Given the description of an element on the screen output the (x, y) to click on. 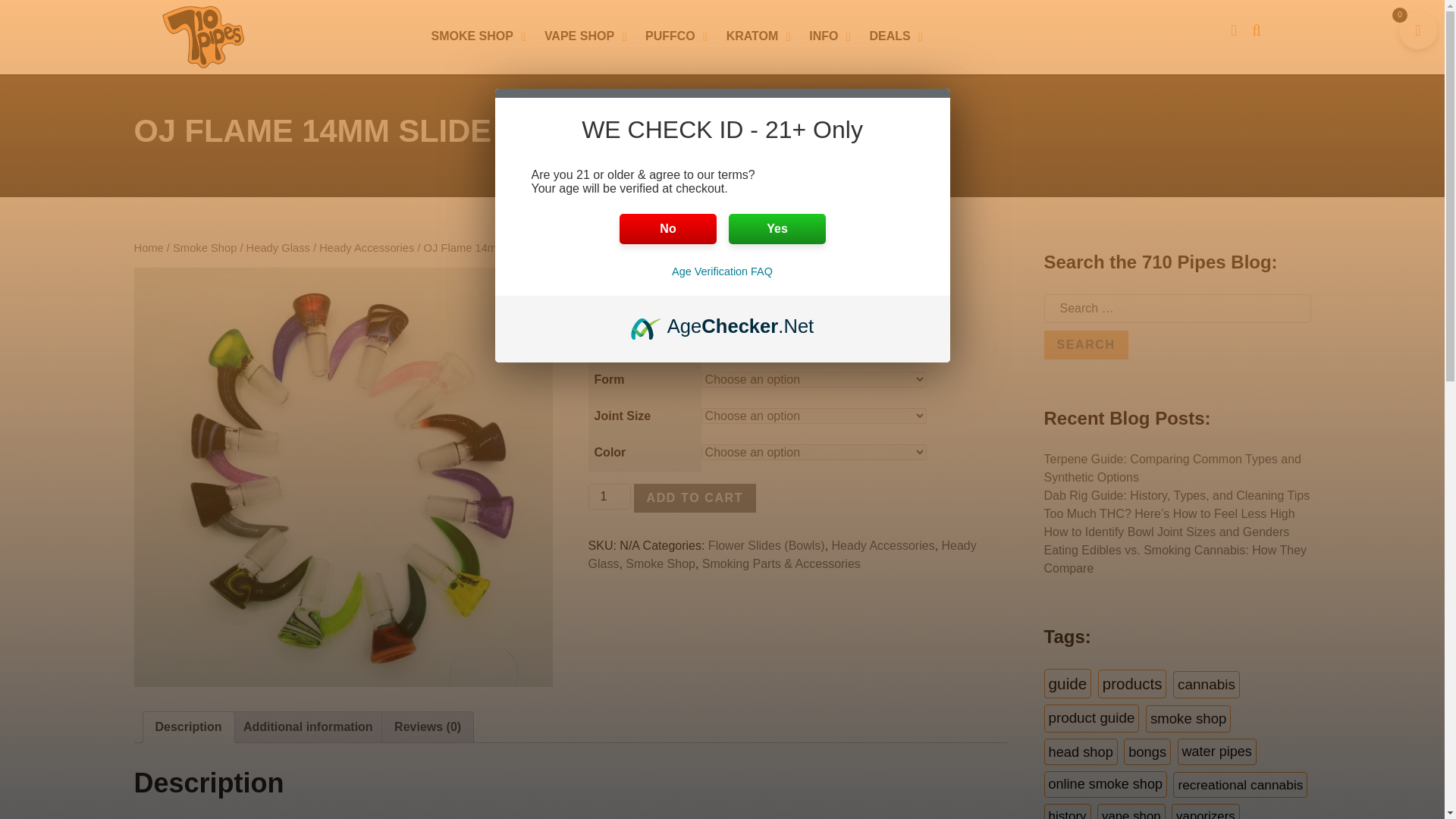
Search (1084, 344)
SMOKE SHOP (479, 37)
710 Pipes Logo (201, 35)
Search (1084, 344)
Search for: (1176, 308)
1 (609, 496)
